Given the description of an element on the screen output the (x, y) to click on. 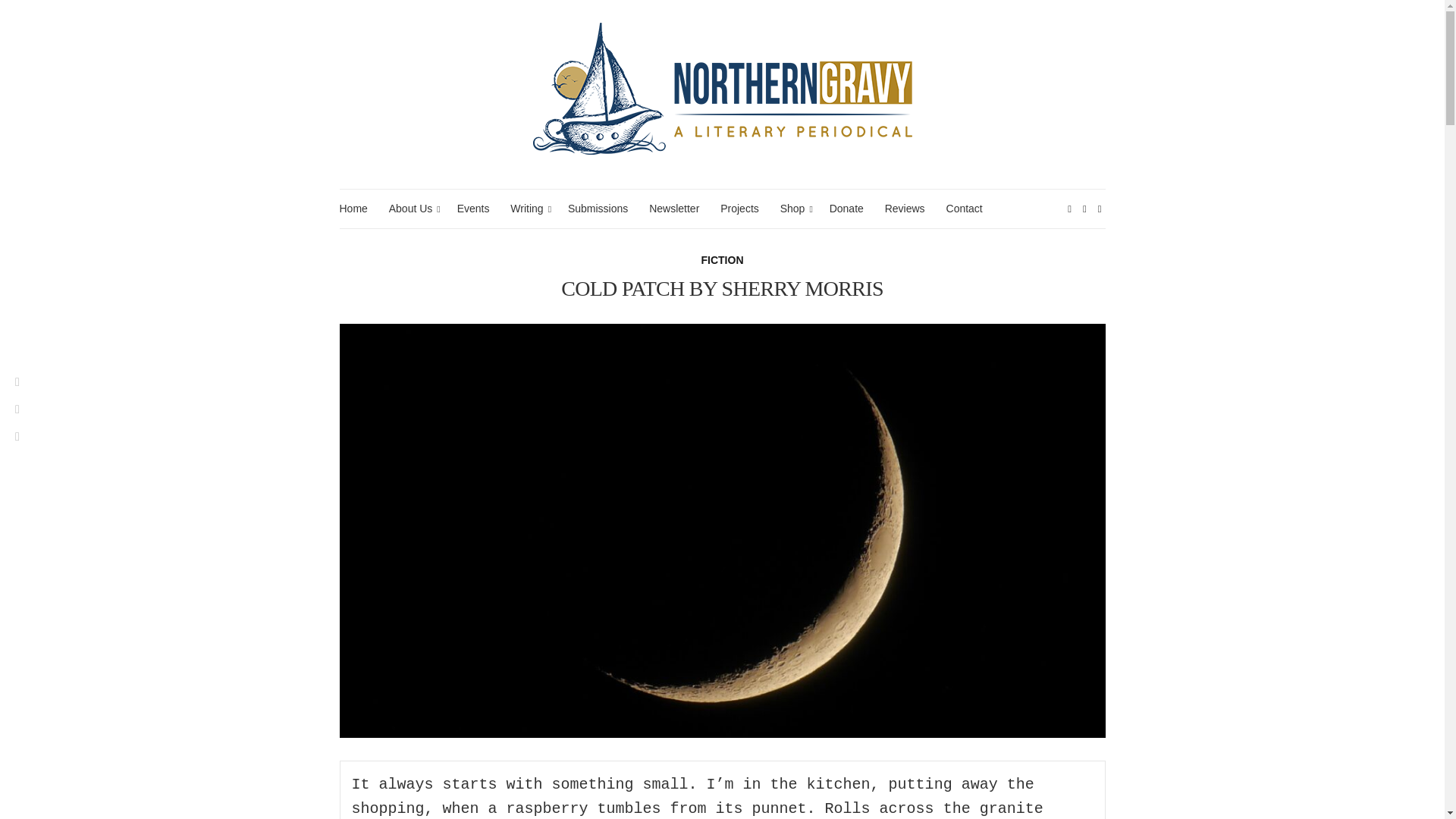
Reviews (904, 208)
About Us (411, 208)
Writing (529, 208)
Newsletter (673, 208)
Events (473, 208)
Submissions (597, 208)
Donate (846, 208)
Home (353, 208)
Projects (739, 208)
Contact (964, 208)
Shop (794, 208)
FICTION (721, 260)
